Given the description of an element on the screen output the (x, y) to click on. 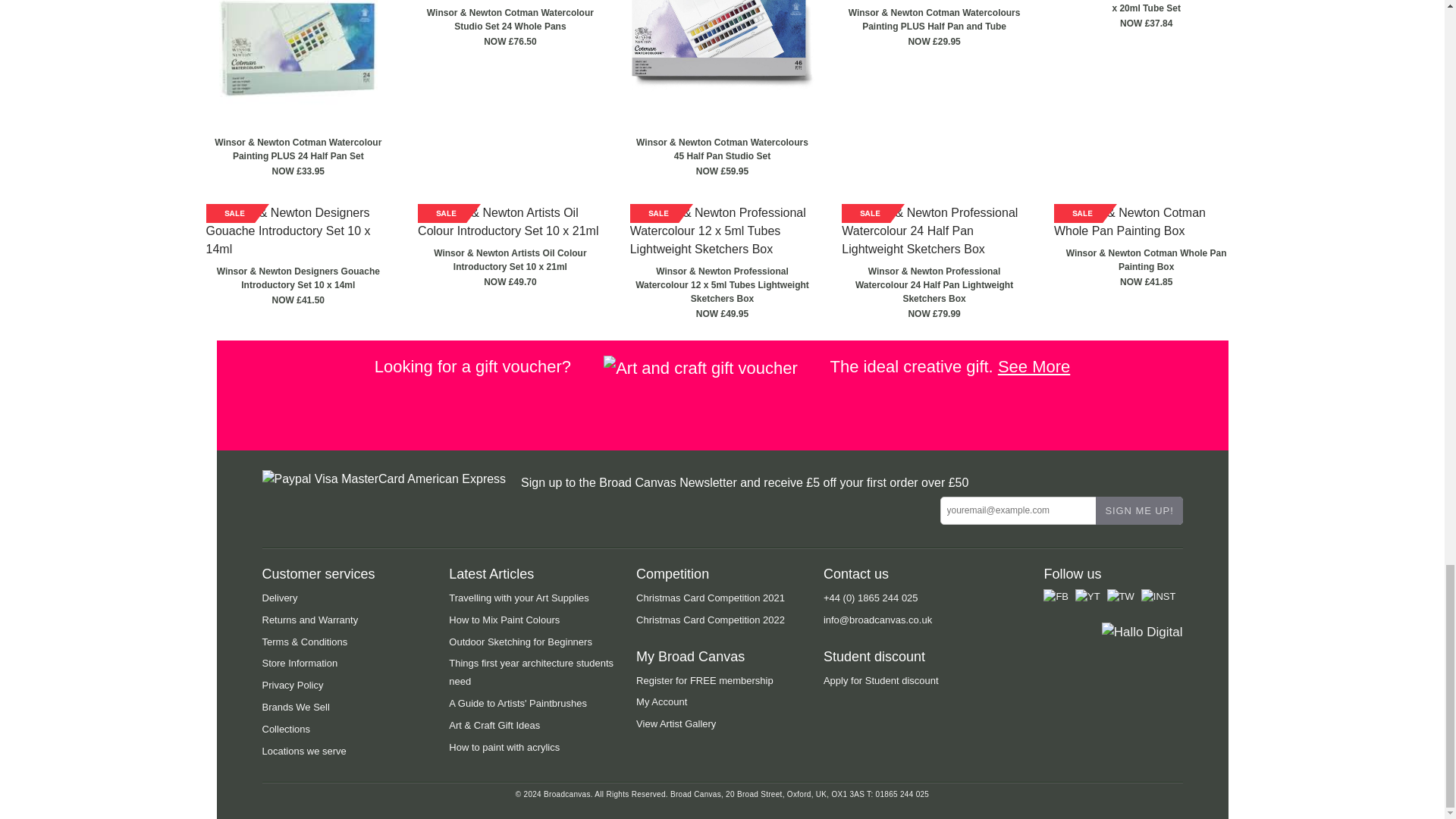
Sign Me Up! (1138, 510)
